Given the description of an element on the screen output the (x, y) to click on. 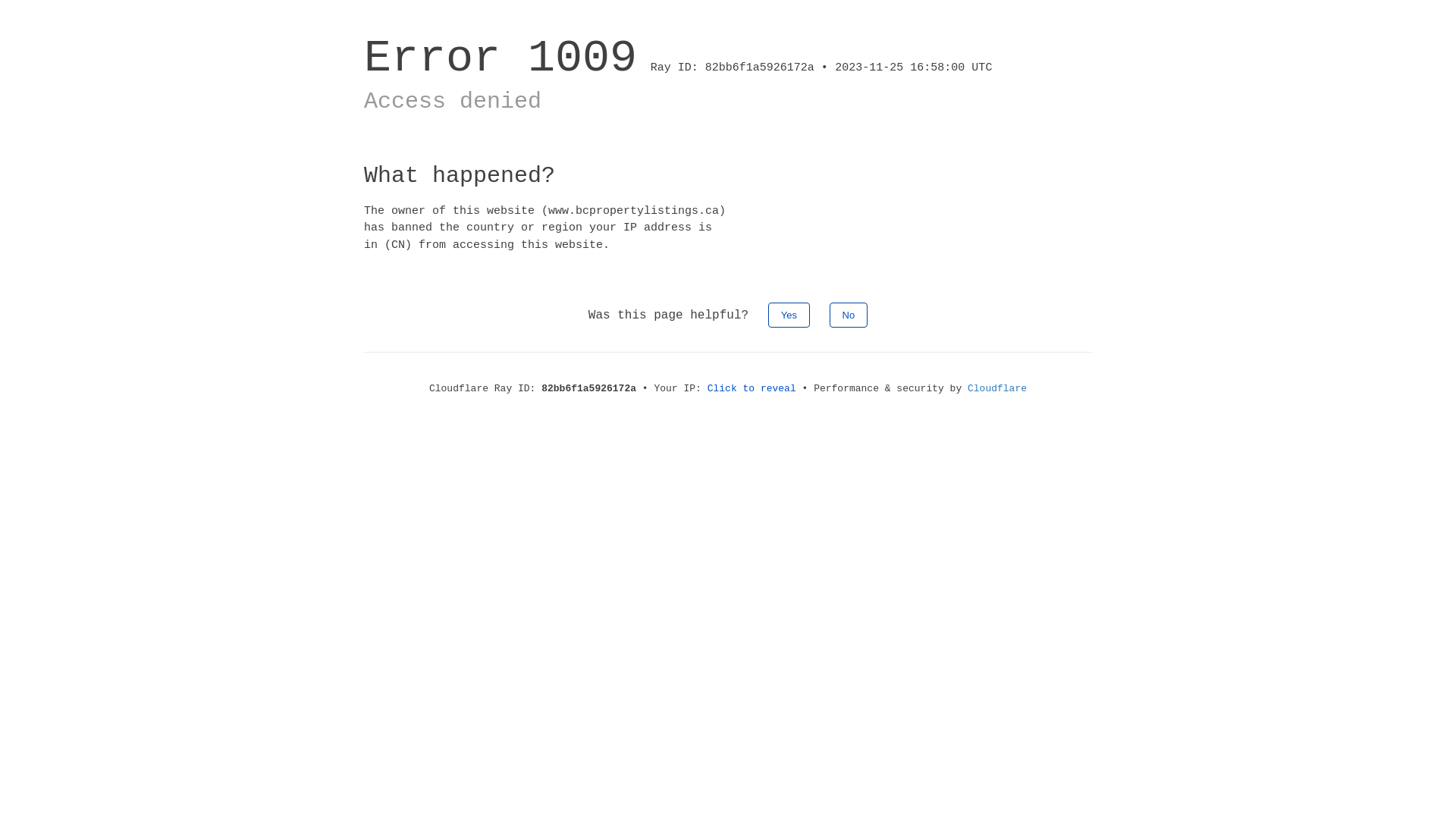
No Element type: text (848, 314)
Click to reveal Element type: text (751, 388)
Cloudflare Element type: text (996, 388)
Yes Element type: text (788, 314)
